Given the description of an element on the screen output the (x, y) to click on. 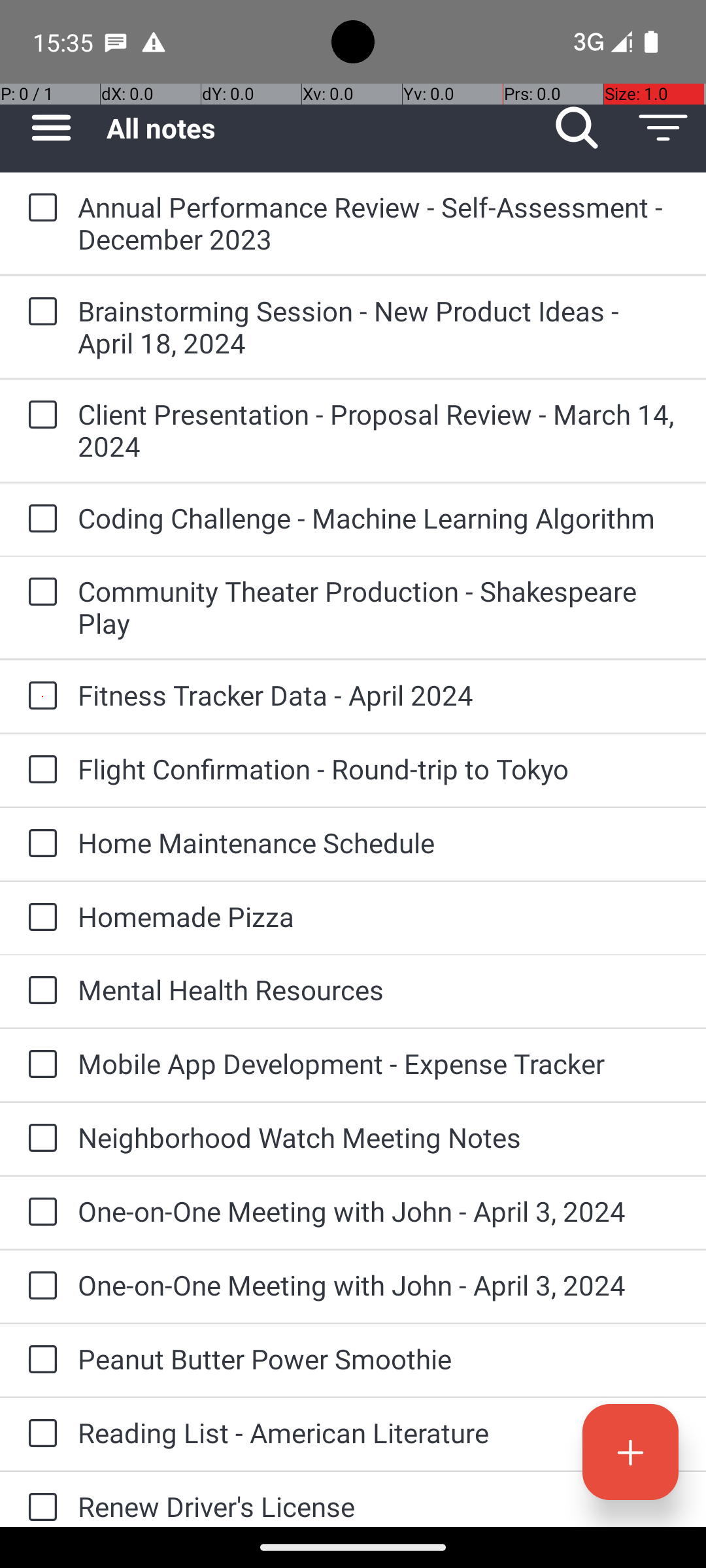
to-do: Annual Performance Review - Self-Assessment - December 2023 Element type: android.widget.CheckBox (38, 208)
Annual Performance Review - Self-Assessment - December 2023 Element type: android.widget.TextView (378, 222)
to-do: Brainstorming Session - New Product Ideas - April 18, 2024 Element type: android.widget.CheckBox (38, 312)
Brainstorming Session - New Product Ideas - April 18, 2024 Element type: android.widget.TextView (378, 326)
to-do: Client Presentation - Proposal Review - March 14, 2024 Element type: android.widget.CheckBox (38, 415)
Client Presentation - Proposal Review - March 14, 2024 Element type: android.widget.TextView (378, 429)
to-do: Coding Challenge - Machine Learning Algorithm Element type: android.widget.CheckBox (38, 519)
Coding Challenge - Machine Learning Algorithm Element type: android.widget.TextView (378, 517)
to-do: Community Theater Production - Shakespeare Play Element type: android.widget.CheckBox (38, 592)
Community Theater Production - Shakespeare Play Element type: android.widget.TextView (378, 606)
to-do: Fitness Tracker Data - April 2024 Element type: android.widget.CheckBox (38, 696)
Fitness Tracker Data - April 2024 Element type: android.widget.TextView (378, 694)
to-do: Flight Confirmation - Round-trip to Tokyo Element type: android.widget.CheckBox (38, 770)
Flight Confirmation - Round-trip to Tokyo Element type: android.widget.TextView (378, 768)
to-do: Home Maintenance Schedule Element type: android.widget.CheckBox (38, 844)
Home Maintenance Schedule Element type: android.widget.TextView (378, 842)
to-do: Homemade Pizza Element type: android.widget.CheckBox (38, 917)
Homemade Pizza Element type: android.widget.TextView (378, 915)
to-do: Mental Health Resources Element type: android.widget.CheckBox (38, 991)
Mental Health Resources Element type: android.widget.TextView (378, 989)
to-do: Mobile App Development - Expense Tracker Element type: android.widget.CheckBox (38, 1065)
Mobile App Development - Expense Tracker Element type: android.widget.TextView (378, 1062)
to-do: Neighborhood Watch Meeting Notes Element type: android.widget.CheckBox (38, 1138)
Neighborhood Watch Meeting Notes Element type: android.widget.TextView (378, 1136)
to-do: One-on-One Meeting with John - April 3, 2024 Element type: android.widget.CheckBox (38, 1212)
One-on-One Meeting with John - April 3, 2024 Element type: android.widget.TextView (378, 1210)
to-do: Peanut Butter Power Smoothie Element type: android.widget.CheckBox (38, 1360)
Peanut Butter Power Smoothie Element type: android.widget.TextView (378, 1358)
to-do: Reading List - American Literature Element type: android.widget.CheckBox (38, 1434)
Reading List - American Literature Element type: android.widget.TextView (378, 1432)
to-do: Renew Driver's License Element type: android.widget.CheckBox (38, 1498)
Renew Driver's License Element type: android.widget.TextView (378, 1505)
